Given the description of an element on the screen output the (x, y) to click on. 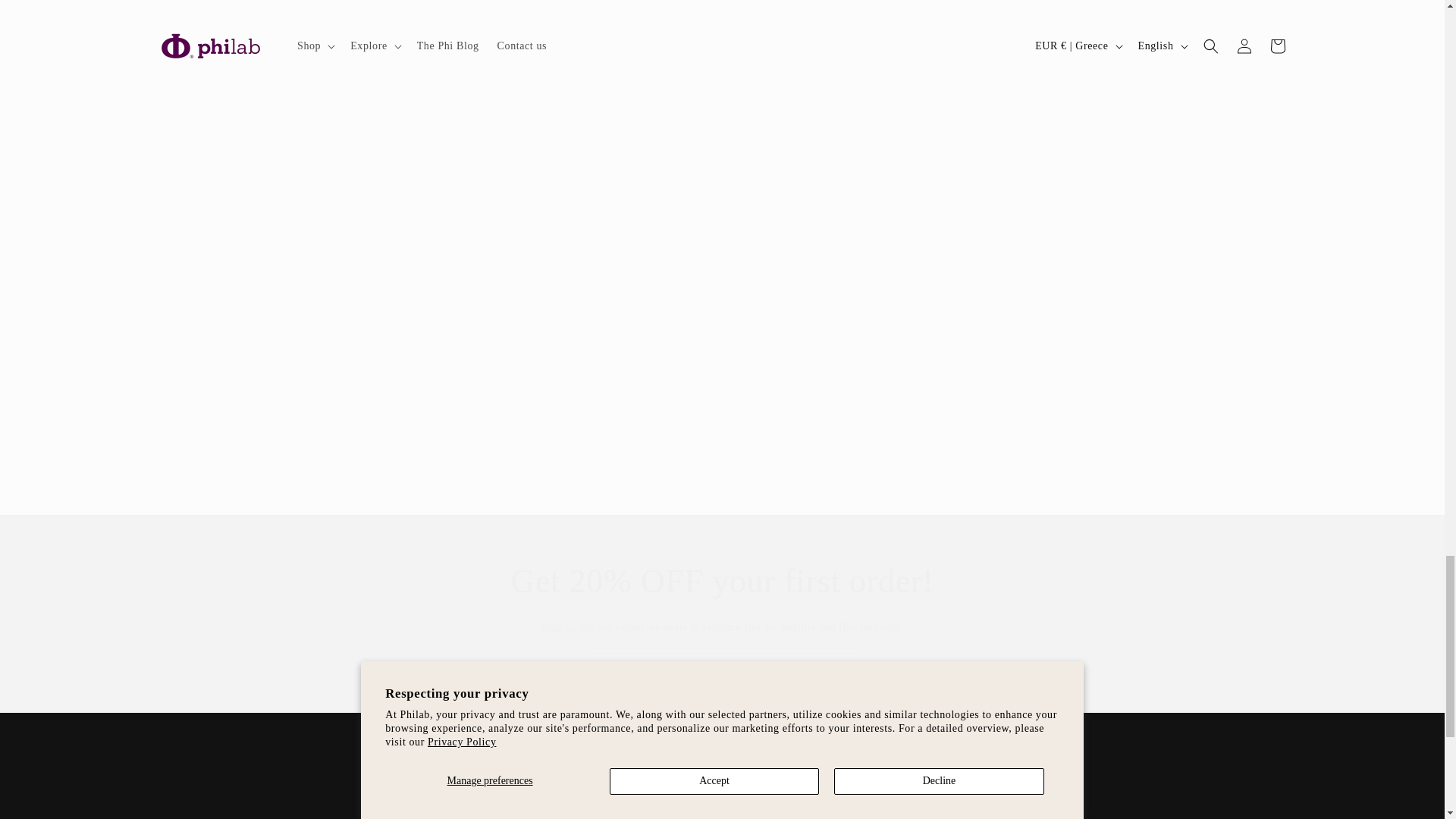
Email (722, 670)
